Given the description of an element on the screen output the (x, y) to click on. 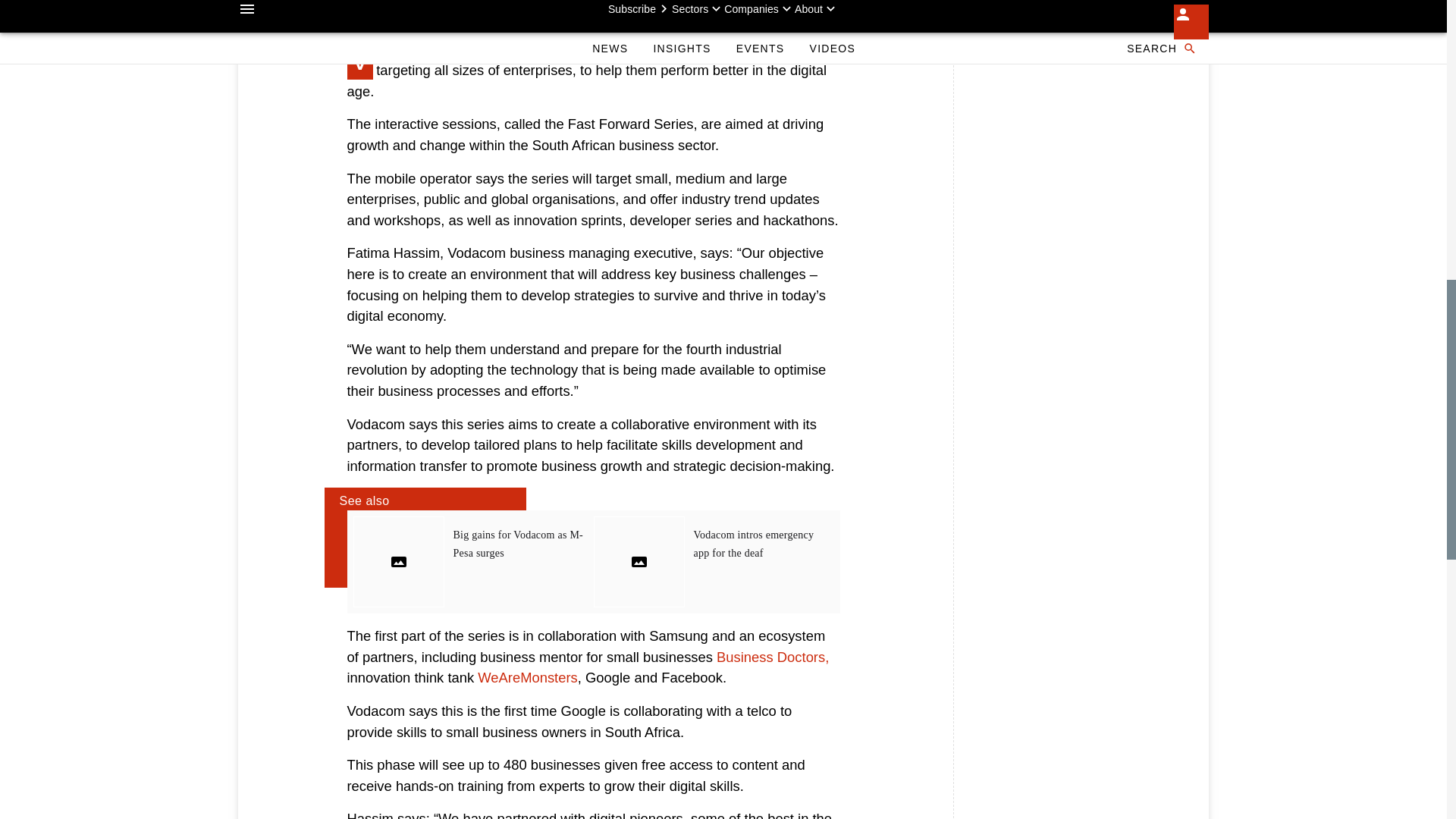
Business Doctors, (772, 657)
Big gains for Vodacom as M-Pesa surges (517, 543)
Vodacom intros emergency app for the deaf (753, 543)
WeAreMonsters (527, 677)
